Given the description of an element on the screen output the (x, y) to click on. 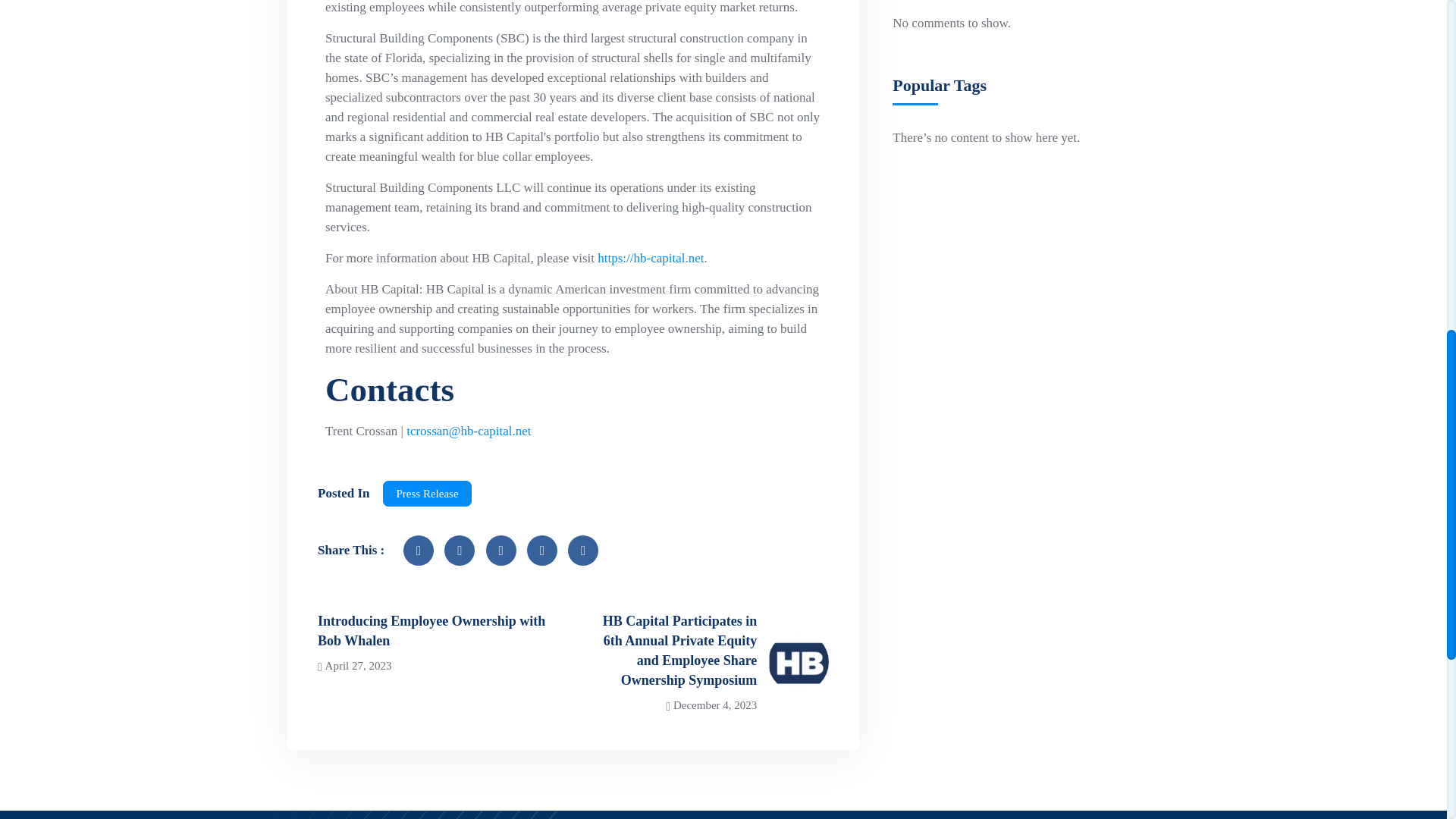
whatsapp (501, 550)
Press Release (426, 493)
facebook (418, 550)
telegram (542, 550)
twitter (459, 550)
skype (582, 550)
